Given the description of an element on the screen output the (x, y) to click on. 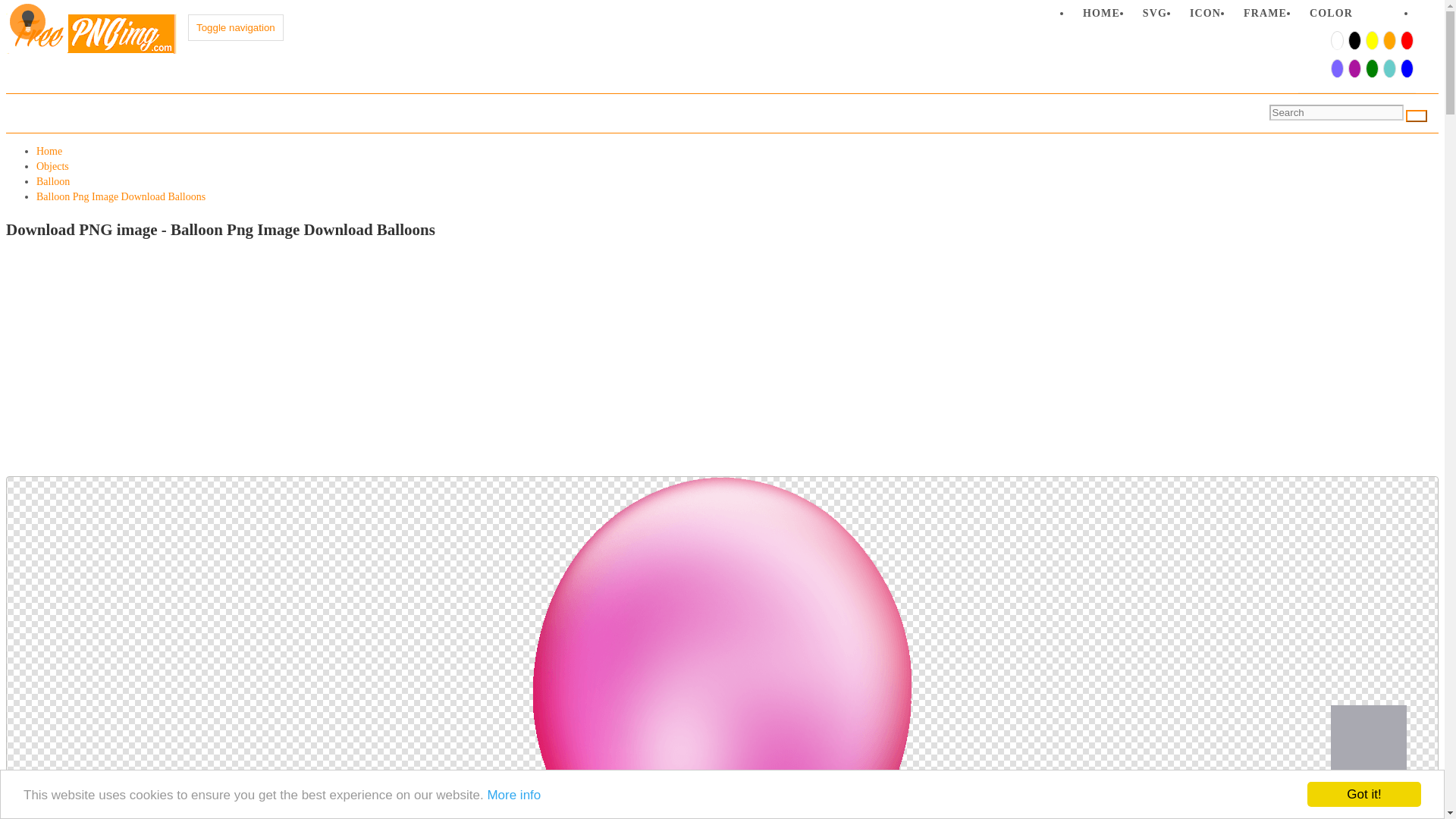
White PNG (1336, 42)
Home (49, 151)
Red PNG (1406, 42)
Yellow PNG (1371, 42)
Toggle navigation (235, 27)
Objects (52, 165)
Green PNG (1371, 70)
Balloon Png Image Download Balloons (120, 196)
Magenta PNG (1353, 70)
COLOR (1331, 17)
ICON (1204, 17)
SVG (1154, 17)
Blue PNG (1406, 70)
HOME (1101, 17)
